Given the description of an element on the screen output the (x, y) to click on. 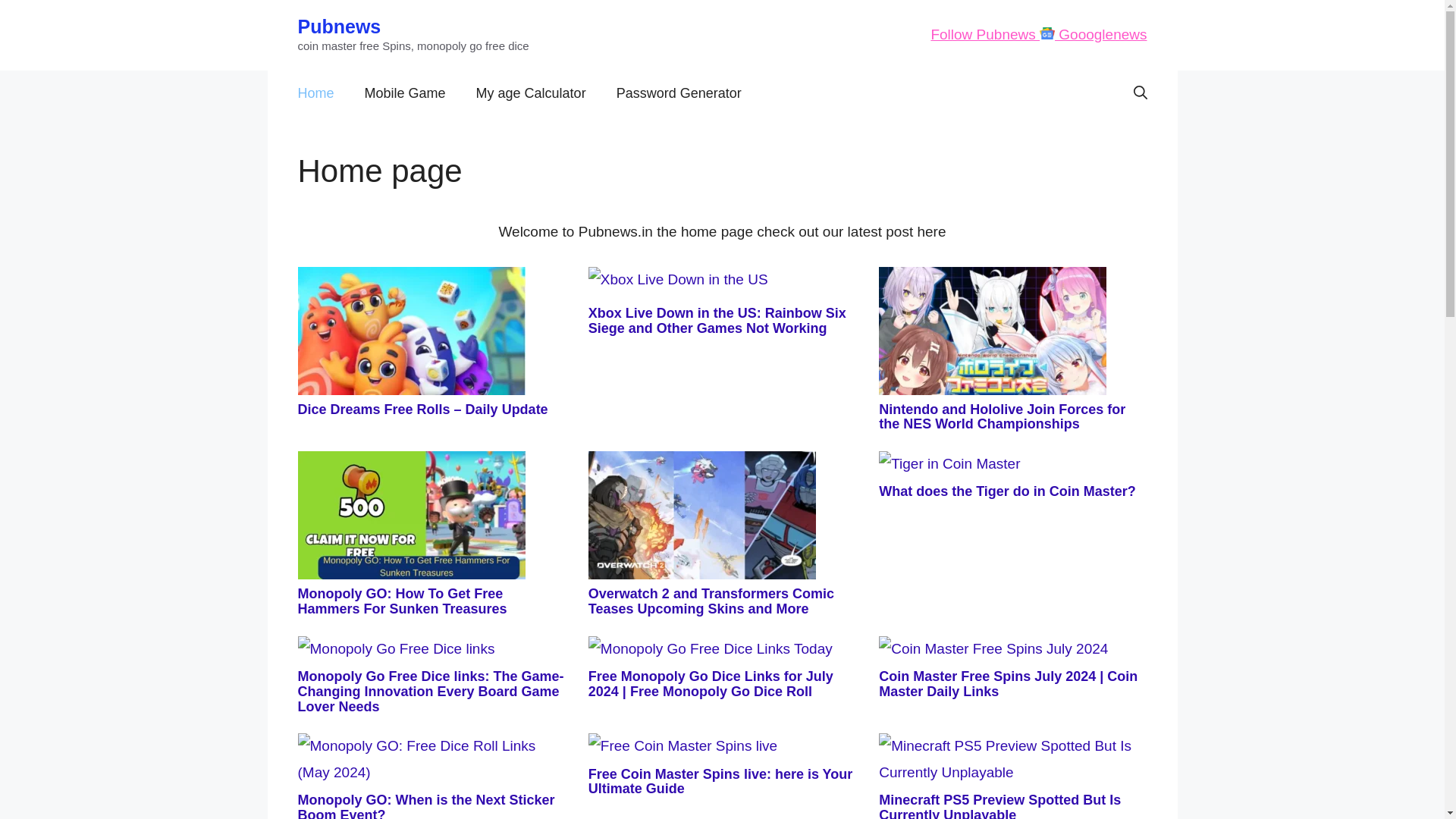
Home page 4 (410, 515)
Home page 10 (430, 758)
Pubnews (338, 25)
Home page 5 (701, 515)
Home page 8 (710, 648)
Home page 7 (396, 648)
Monopoly GO: How To Get Free Hammers For Sunken Treasures (401, 601)
Home page 6 (949, 463)
Mobile Game (405, 92)
My age Calculator (531, 92)
Follow Pubnews Goooglenews (1038, 34)
Home (315, 92)
